Given the description of an element on the screen output the (x, y) to click on. 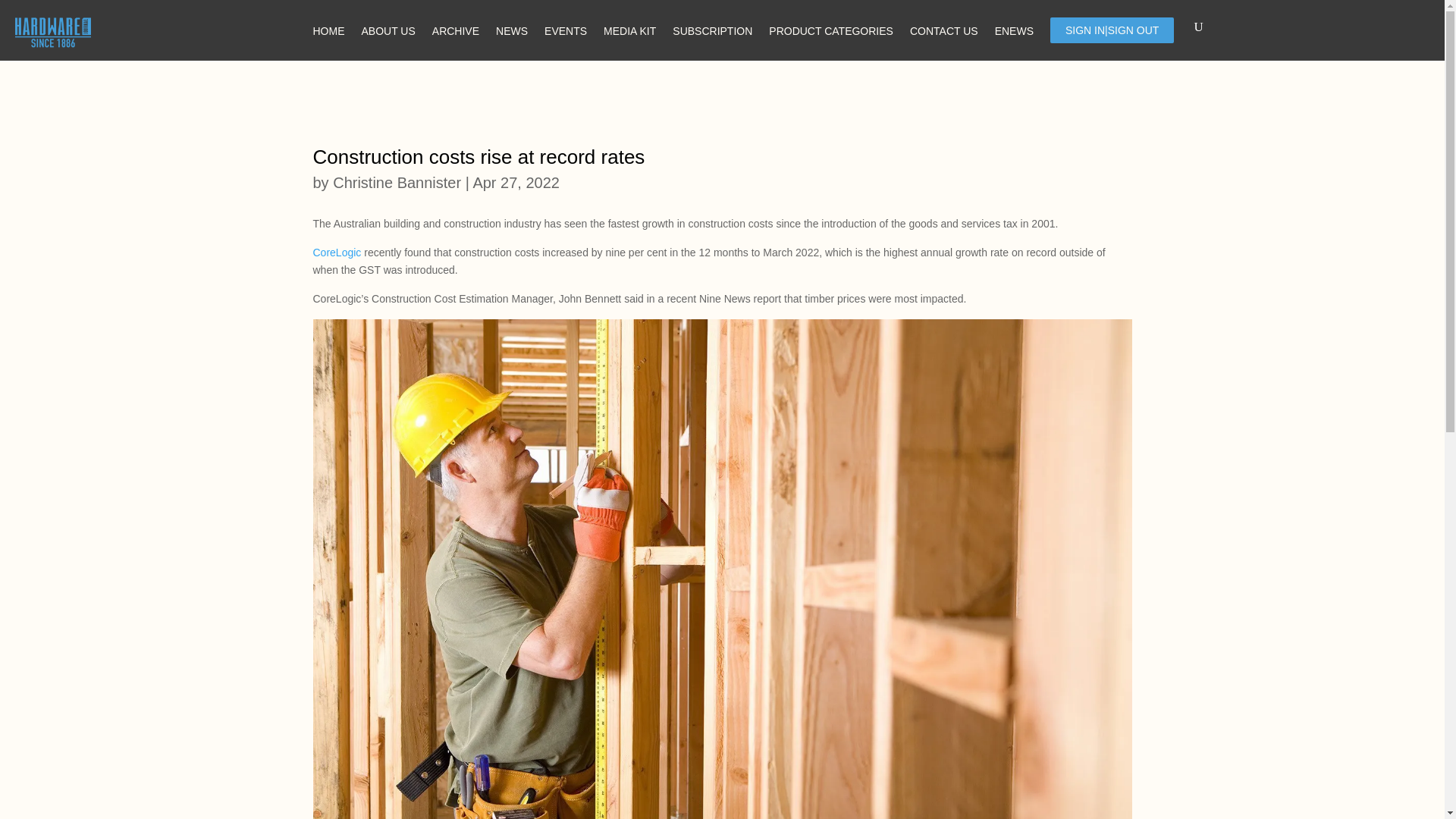
ARCHIVE (455, 29)
EVENTS (565, 29)
Christine Bannister (397, 182)
MEDIA KIT (630, 29)
HOME (328, 29)
NEWS (511, 29)
CoreLogic (337, 252)
PRODUCT CATEGORIES (830, 29)
ABOUT US (387, 29)
SUBSCRIPTION (712, 29)
ENEWS (1013, 29)
CONTACT US (944, 29)
Posts by Christine Bannister (397, 182)
